Given the description of an element on the screen output the (x, y) to click on. 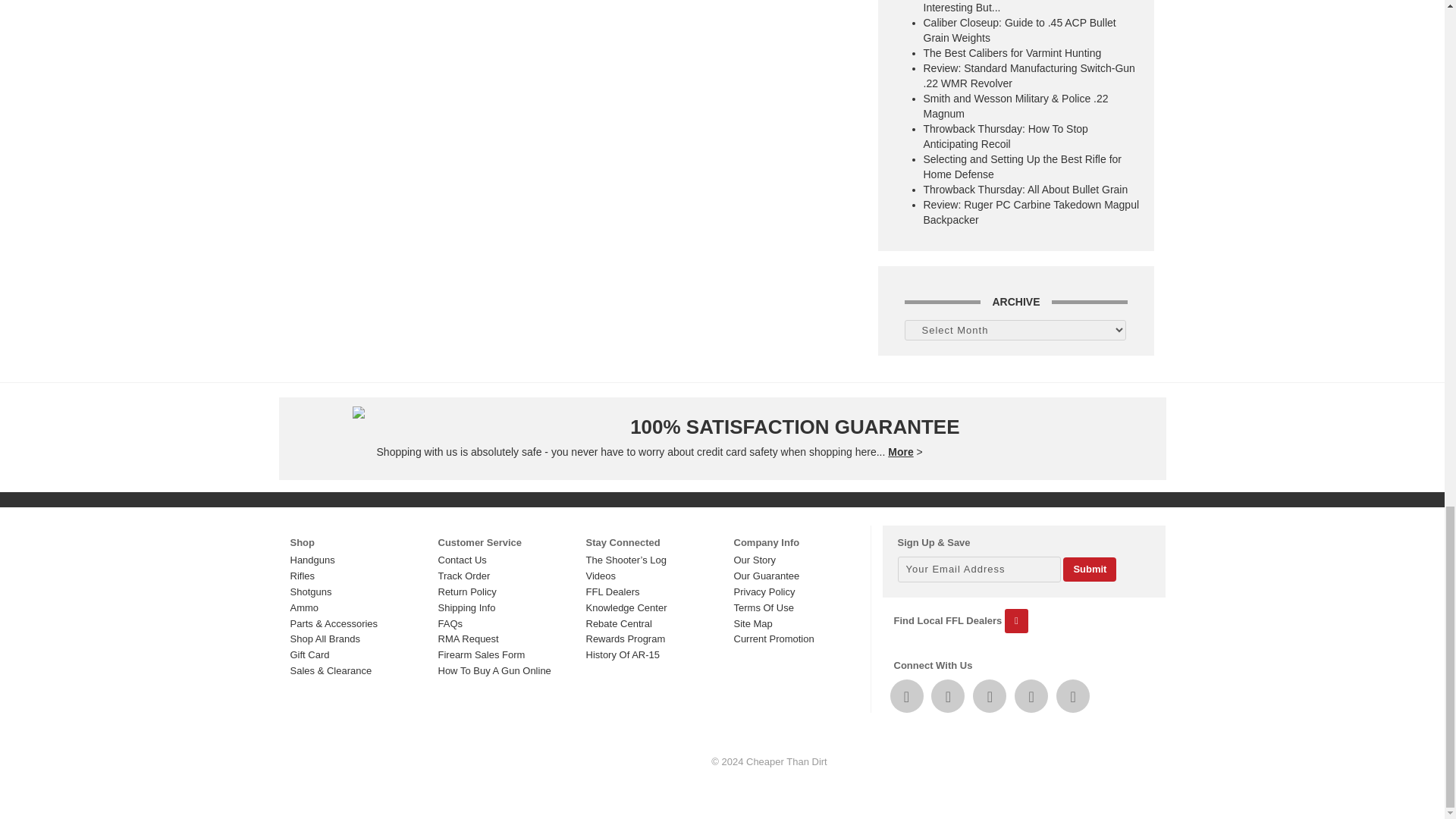
Submit (1089, 569)
Your Email Address (979, 569)
